Given the description of an element on the screen output the (x, y) to click on. 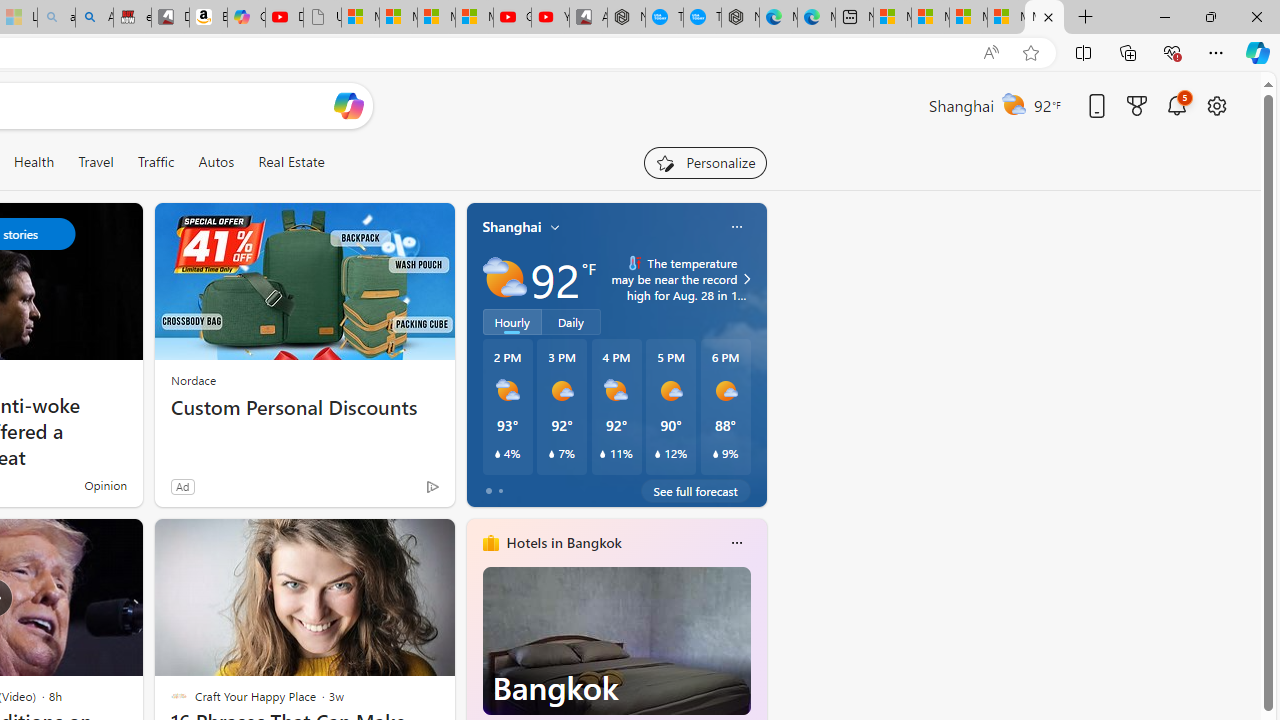
This story is trending (393, 490)
previous (476, 670)
Class: weather-current-precipitation-glyph (715, 453)
